Given the description of an element on the screen output the (x, y) to click on. 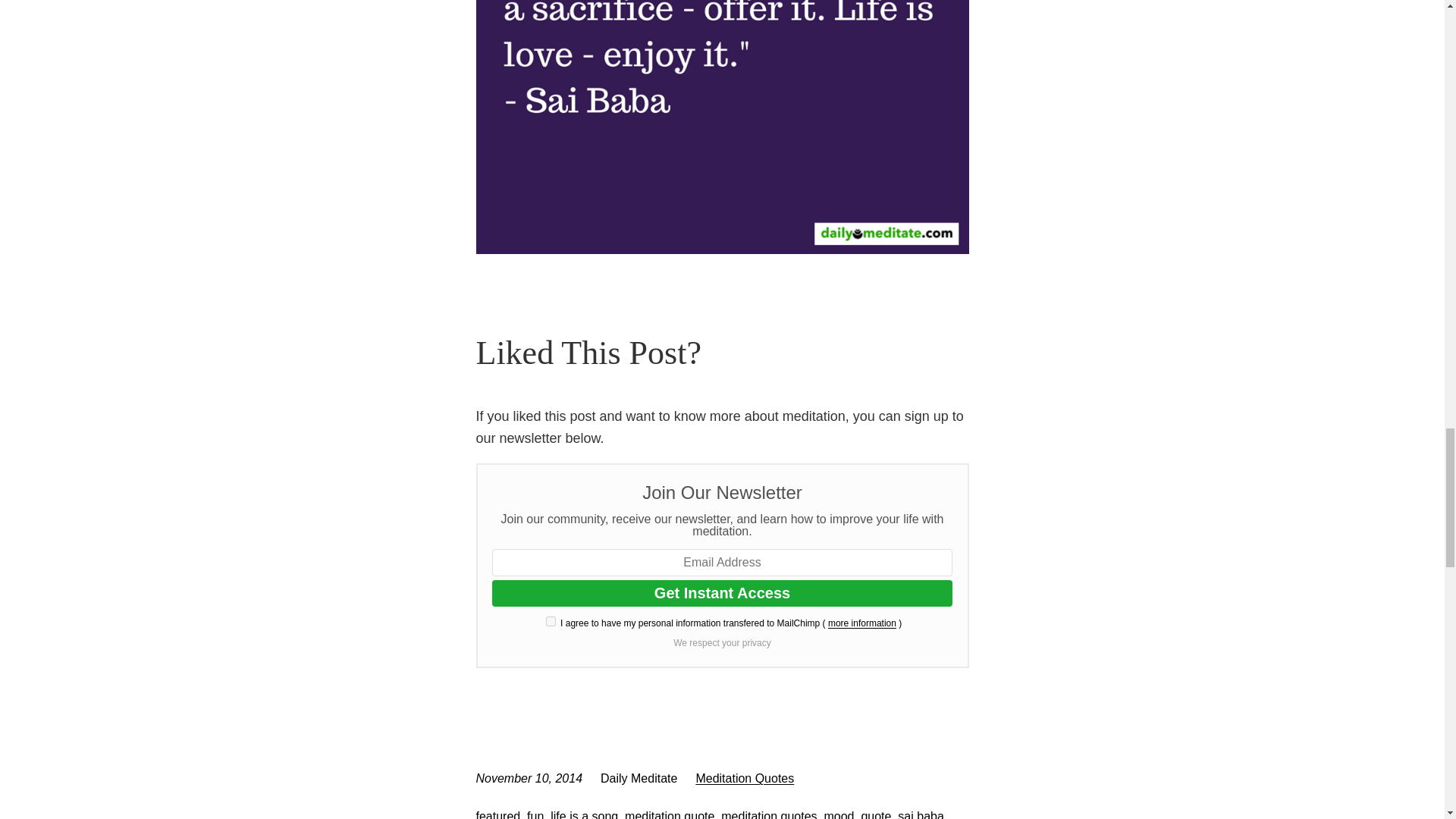
on (551, 621)
more information (862, 623)
featured (498, 814)
life is a song (583, 814)
Get Instant Access (722, 592)
fun (535, 814)
quote (875, 814)
mood (838, 814)
Meditation Quotes (744, 778)
meditation quote (669, 814)
